Given the description of an element on the screen output the (x, y) to click on. 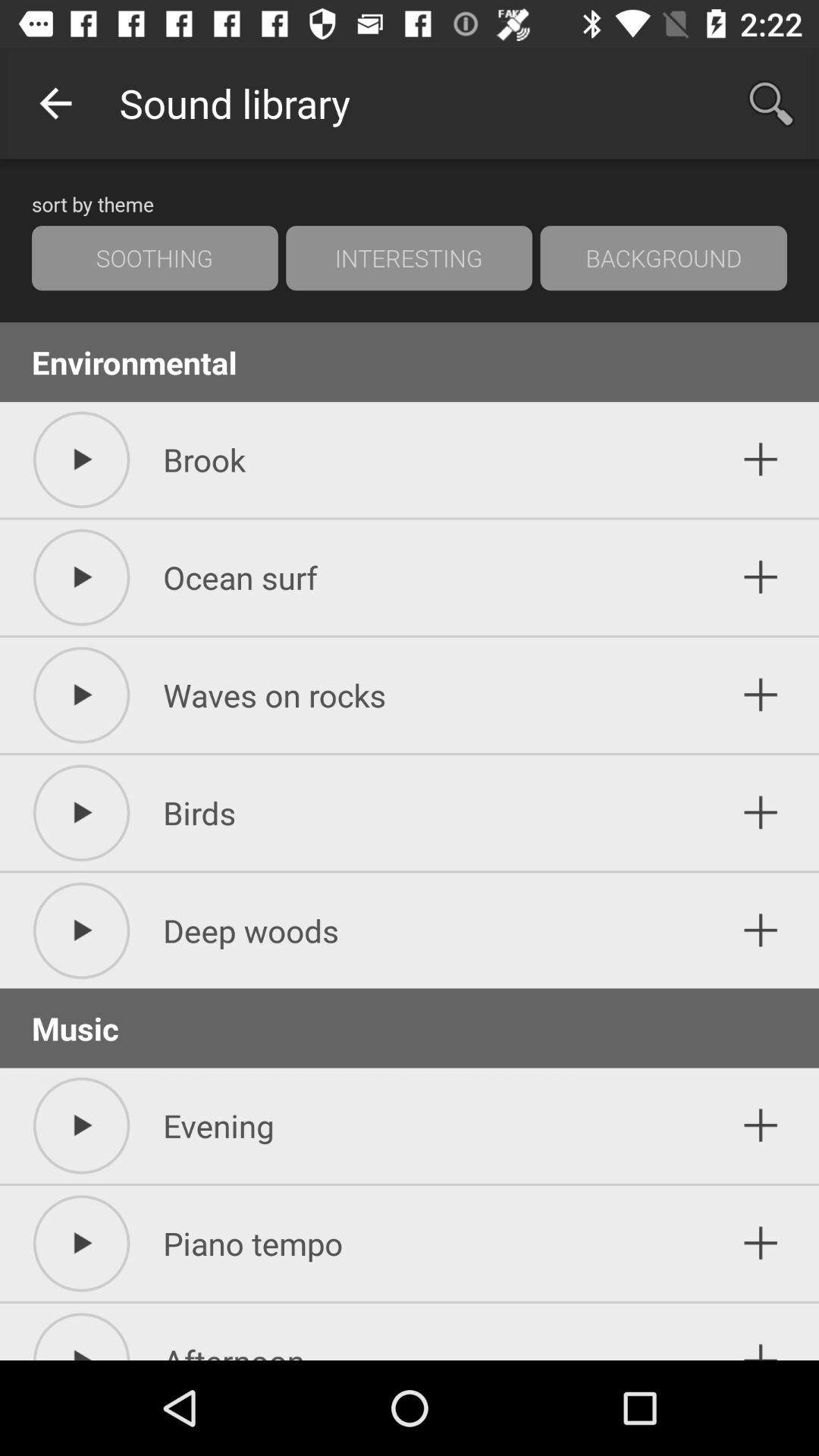
turn on item to the right of the soothing (409, 257)
